Given the description of an element on the screen output the (x, y) to click on. 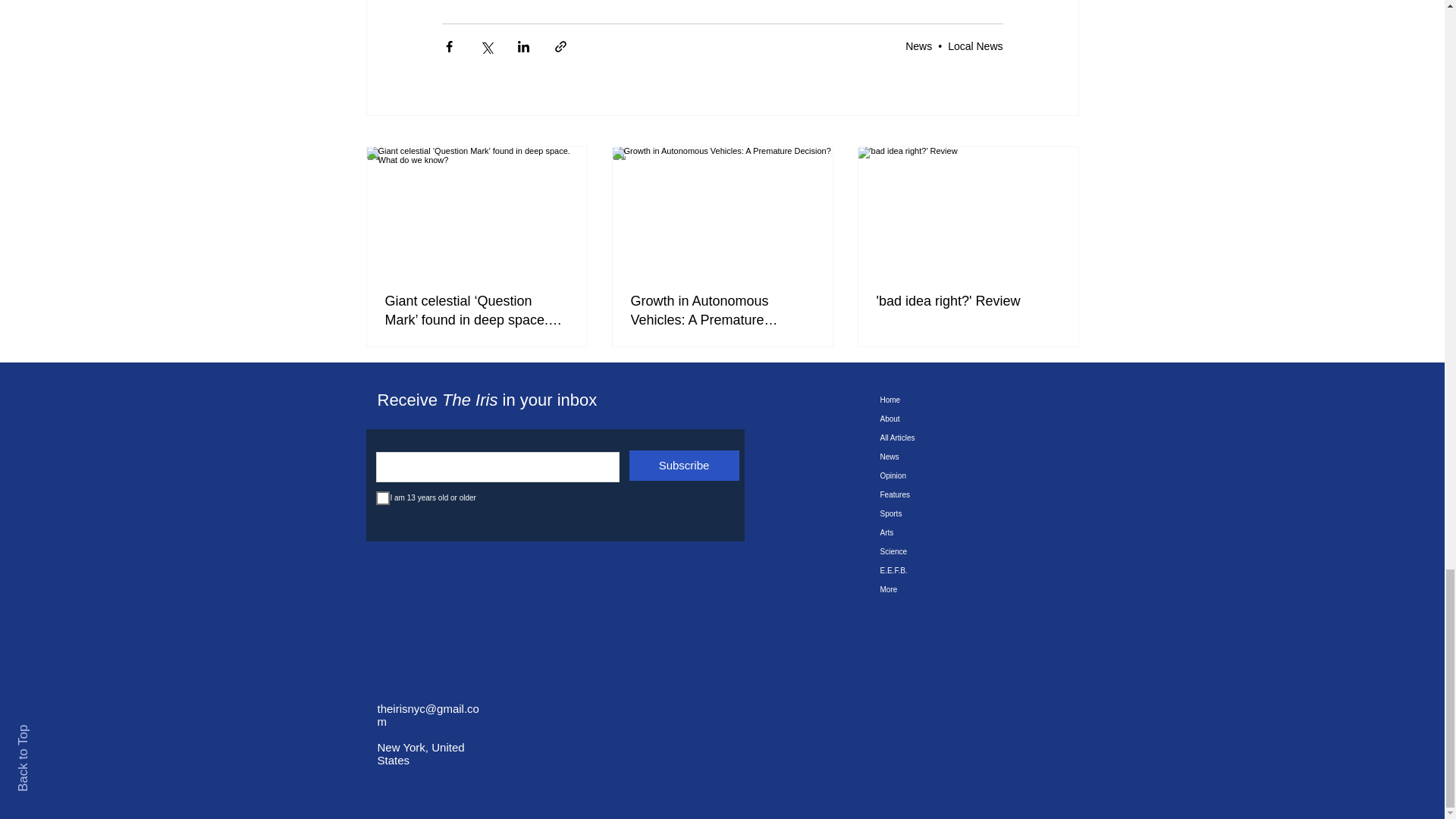
Local News (975, 46)
'bad idea right?' Review (967, 301)
Growth in Autonomous Vehicles: A Premature Decision? (721, 310)
News (918, 46)
